Given the description of an element on the screen output the (x, y) to click on. 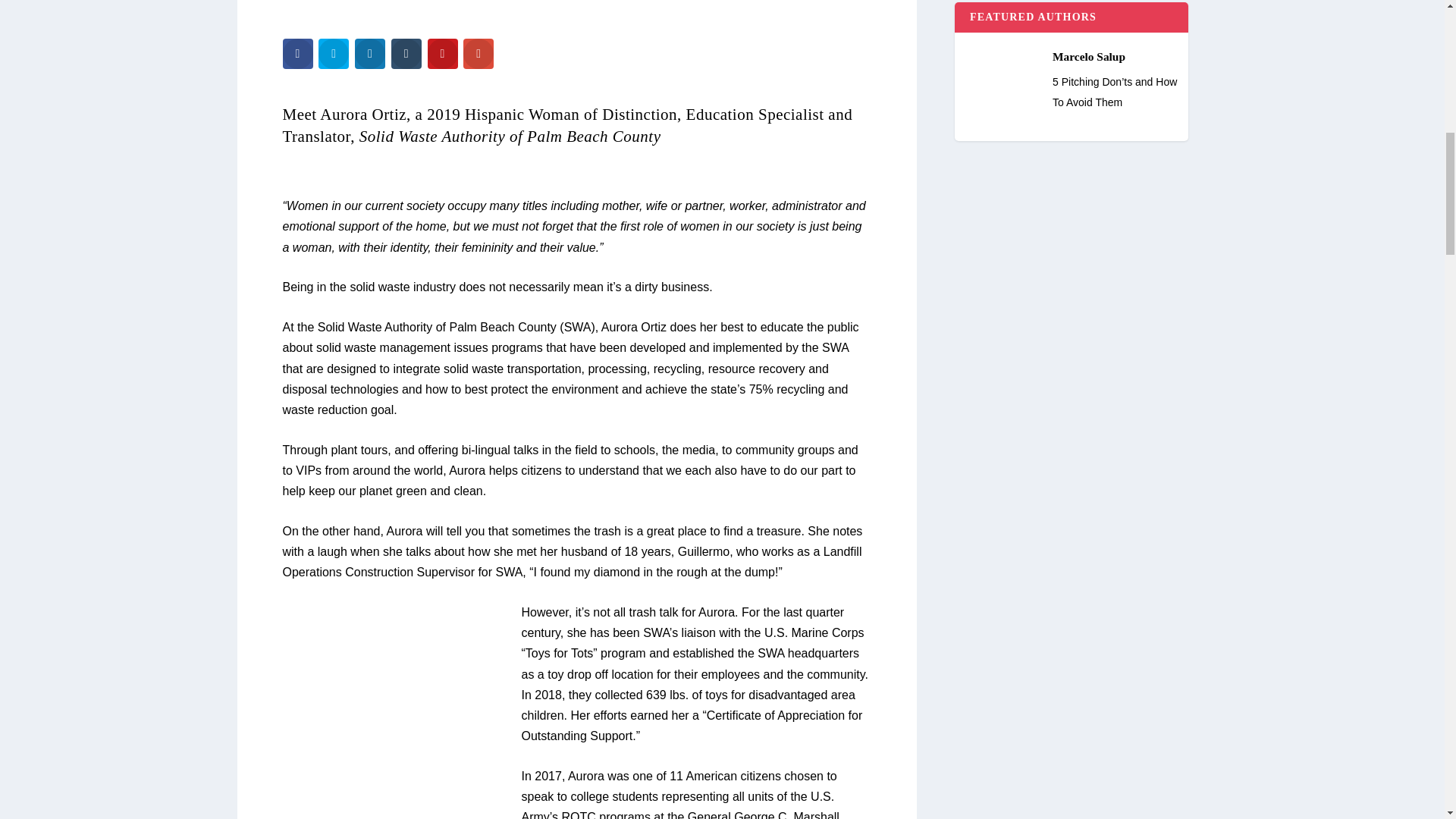
Latina Aurora Ortiz waste management (575, 12)
Marcelo Salup (1071, 49)
